Given the description of an element on the screen output the (x, y) to click on. 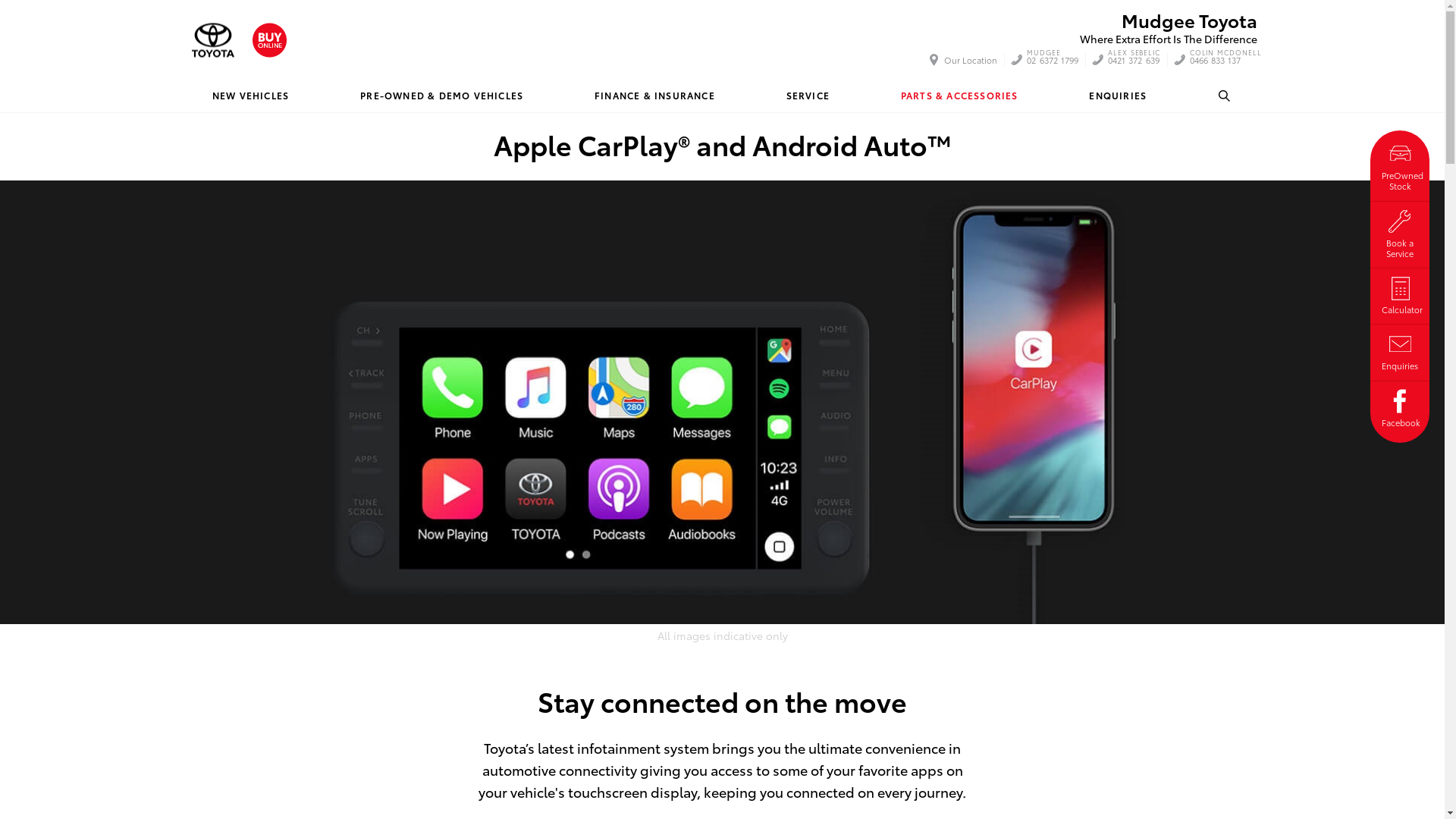
Calculator Element type: text (1399, 293)
FINANCE & INSURANCE Element type: text (654, 95)
PreOwned Stock Element type: text (1399, 164)
Book a Service Element type: text (1399, 232)
PARTS & ACCESSORIES Element type: text (958, 95)
Buy Online Element type: hover (268, 39)
PRE-OWNED & DEMO VEHICLES Element type: text (441, 95)
Facebook Element type: text (1399, 406)
Mudgee Toyota Element type: hover (212, 39)
MUDGEE
02 6372 1799 Element type: text (1052, 59)
Enquiries Element type: text (1399, 349)
Mudgee Toyota
Where Extra Effort Is The Difference Element type: text (1168, 28)
SEARCH Element type: text (1225, 95)
COLIN MCDONELL
0466 833 137 Element type: text (1225, 59)
NEW VEHICLES Element type: text (249, 95)
SERVICE Element type: text (806, 95)
ENQUIRIES Element type: text (1117, 95)
Our Location Element type: text (964, 59)
ALEX SEBELIC
0421 372 639 Element type: text (1134, 59)
